Given the description of an element on the screen output the (x, y) to click on. 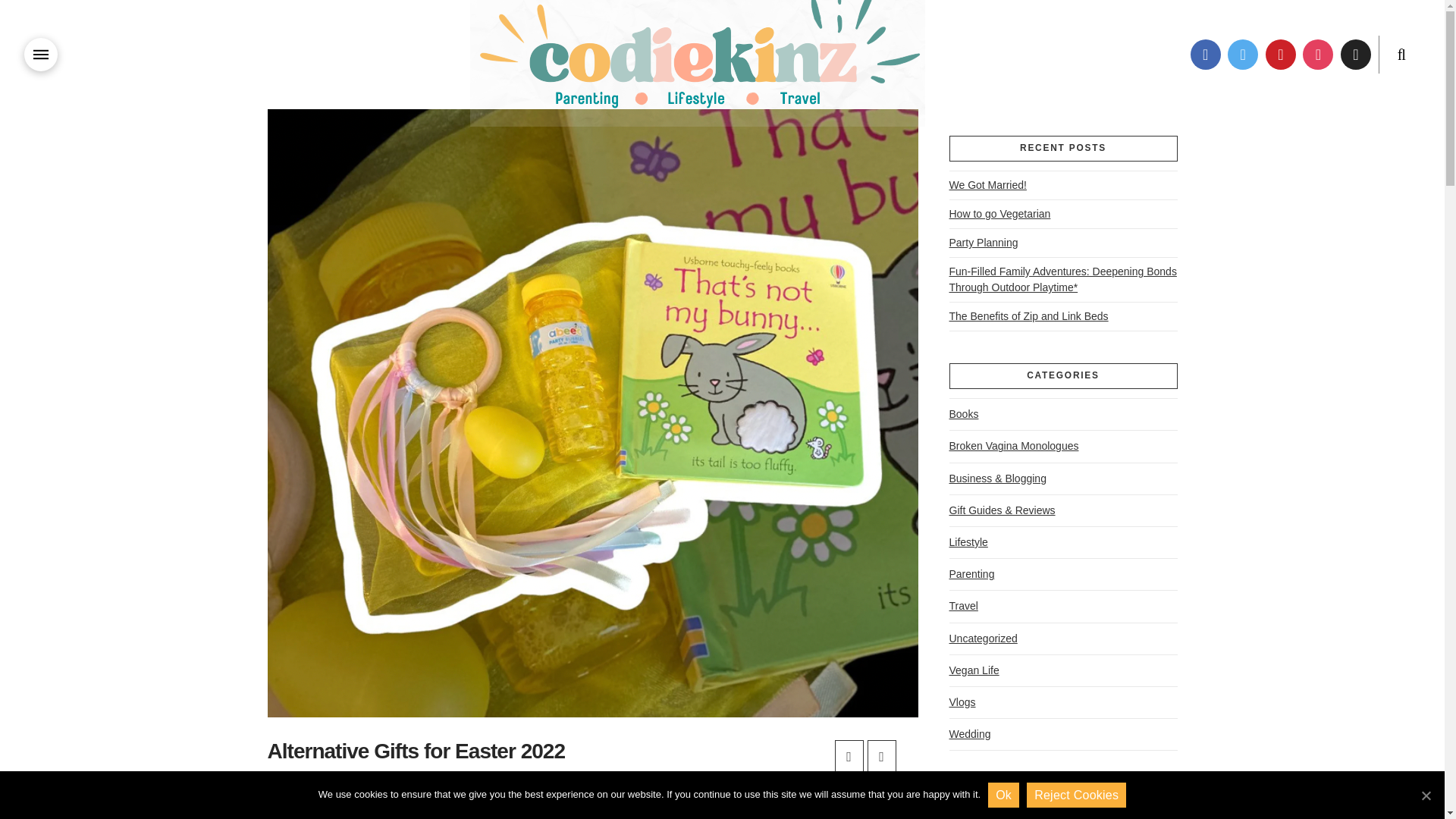
Travel (963, 605)
The Benefits of Zip and Link Beds (1028, 315)
Uncategorized (983, 638)
Books (963, 413)
We Got Married! (987, 184)
Lifestyle (968, 542)
Parenting (971, 573)
Party Planning (983, 242)
Broken Vagina Monologues (1013, 445)
How to go Vegetarian (1000, 213)
